Given the description of an element on the screen output the (x, y) to click on. 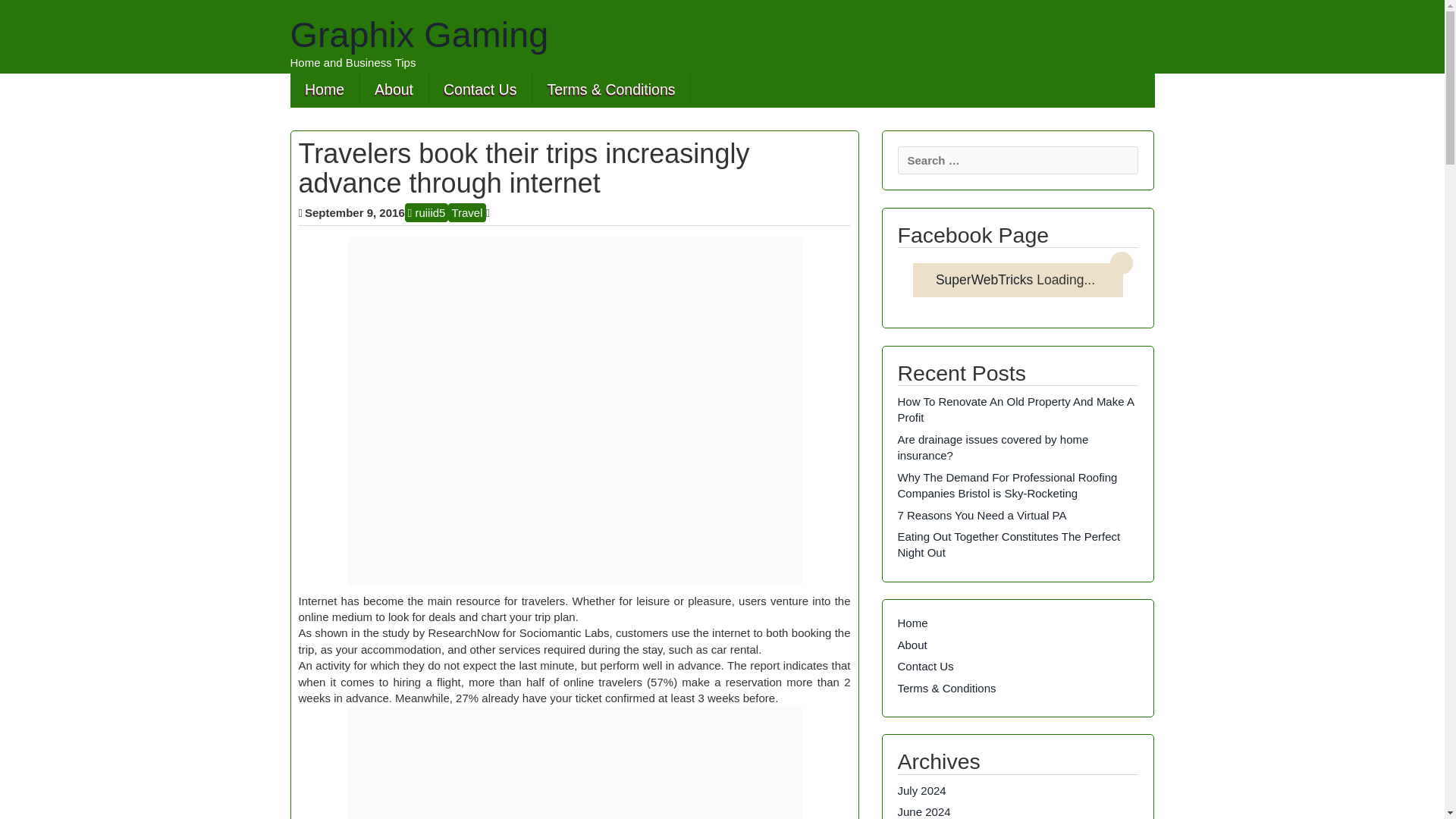
Search (24, 12)
Graphix Gaming (418, 34)
About (912, 644)
Home (913, 622)
Eating Out Together Constitutes The Perfect Night Out (1009, 543)
About (393, 89)
July 2024 (922, 789)
Contact Us (480, 89)
ruiiid5 (426, 212)
SuperWebTricks (984, 279)
